Given the description of an element on the screen output the (x, y) to click on. 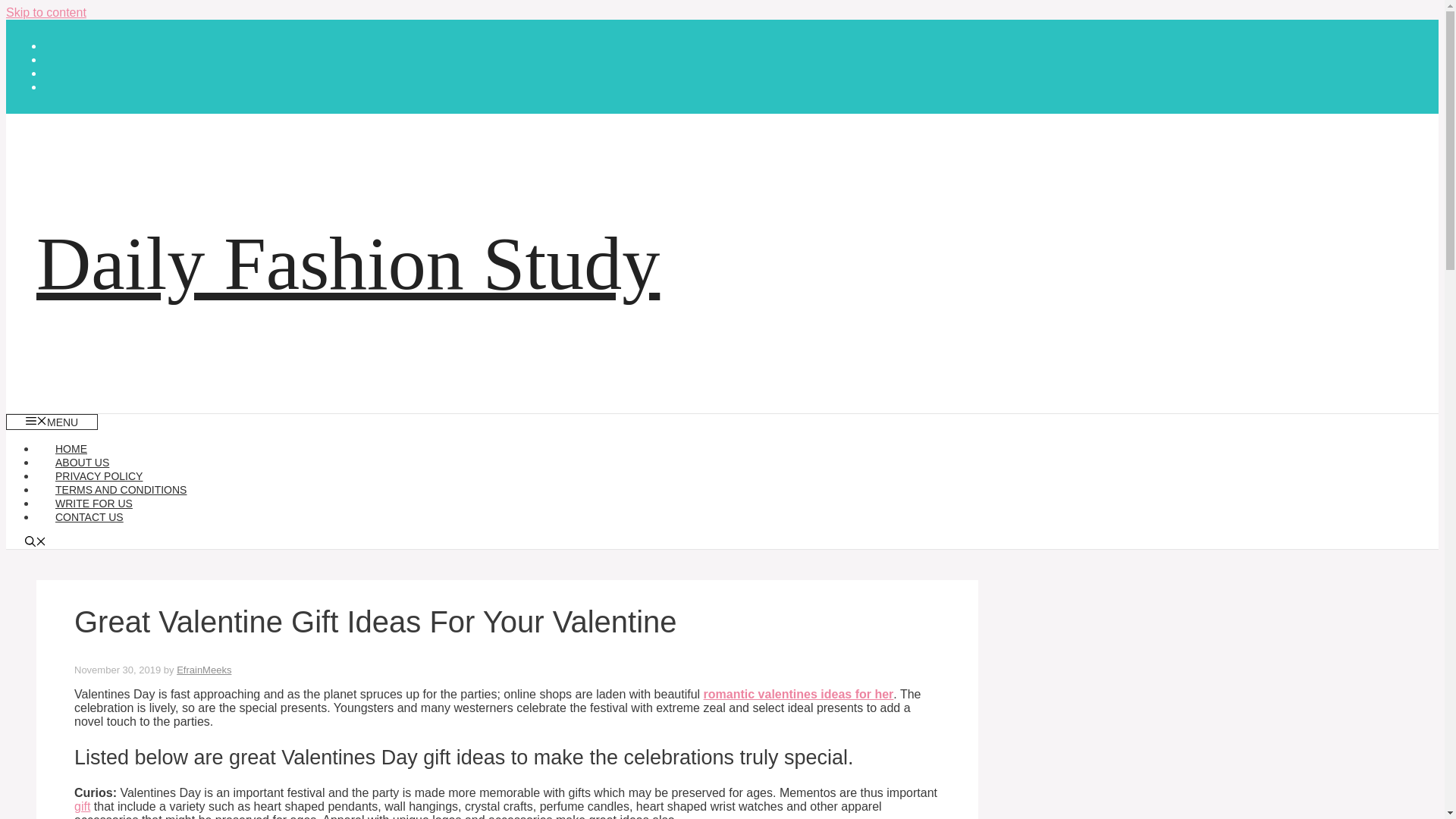
View all posts by EfrainMeeks (203, 669)
EfrainMeeks (203, 669)
gift (82, 806)
MENU (51, 421)
HOME (71, 449)
TERMS AND CONDITIONS (120, 490)
Skip to content (45, 11)
Skip to content (45, 11)
romantic valentines ideas for her (798, 694)
CONTACT US (89, 517)
ABOUT US (82, 462)
Daily Fashion Study (347, 263)
PRIVACY POLICY (98, 476)
WRITE FOR US (93, 503)
